Given the description of an element on the screen output the (x, y) to click on. 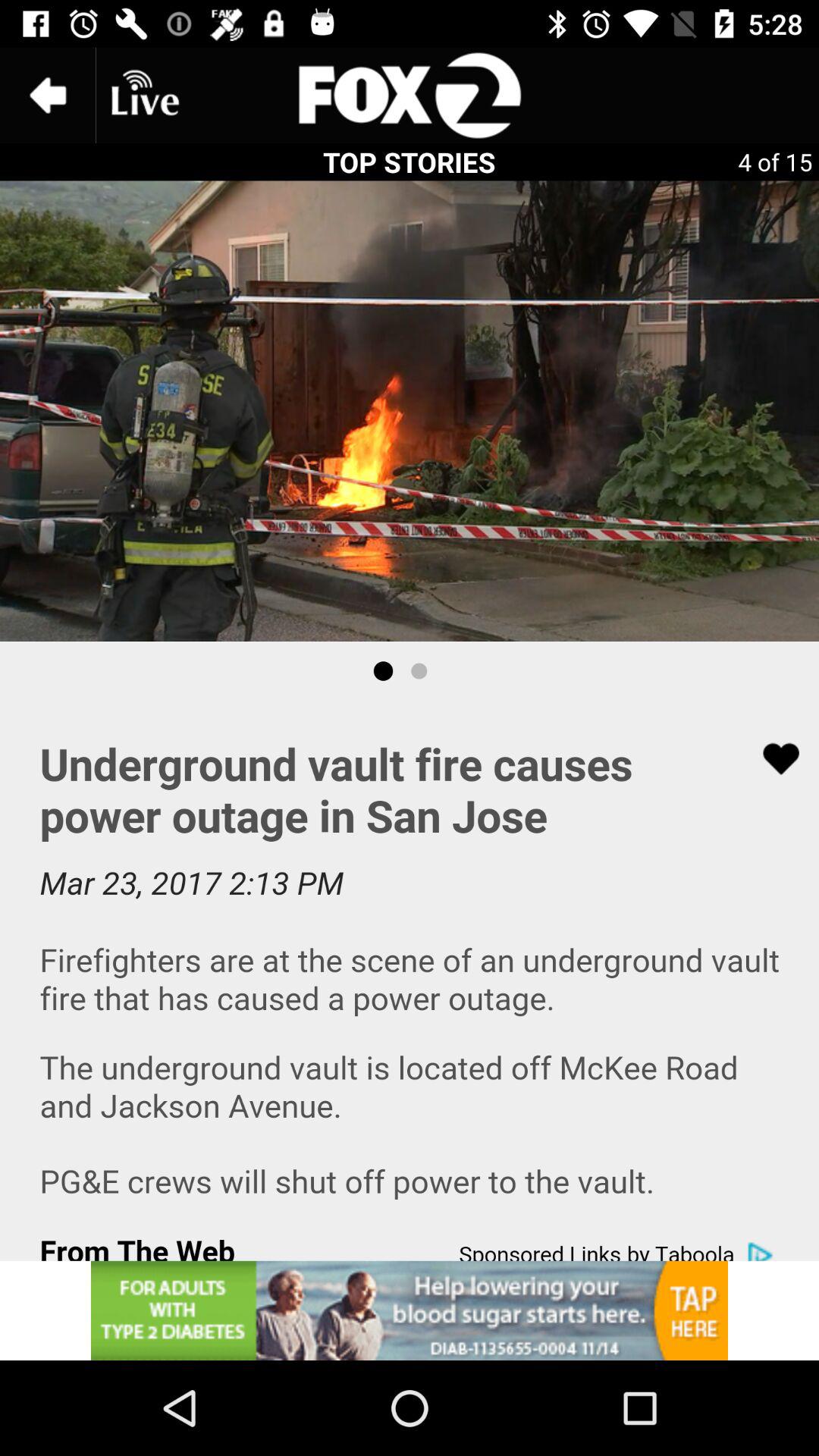
go back (47, 95)
